Given the description of an element on the screen output the (x, y) to click on. 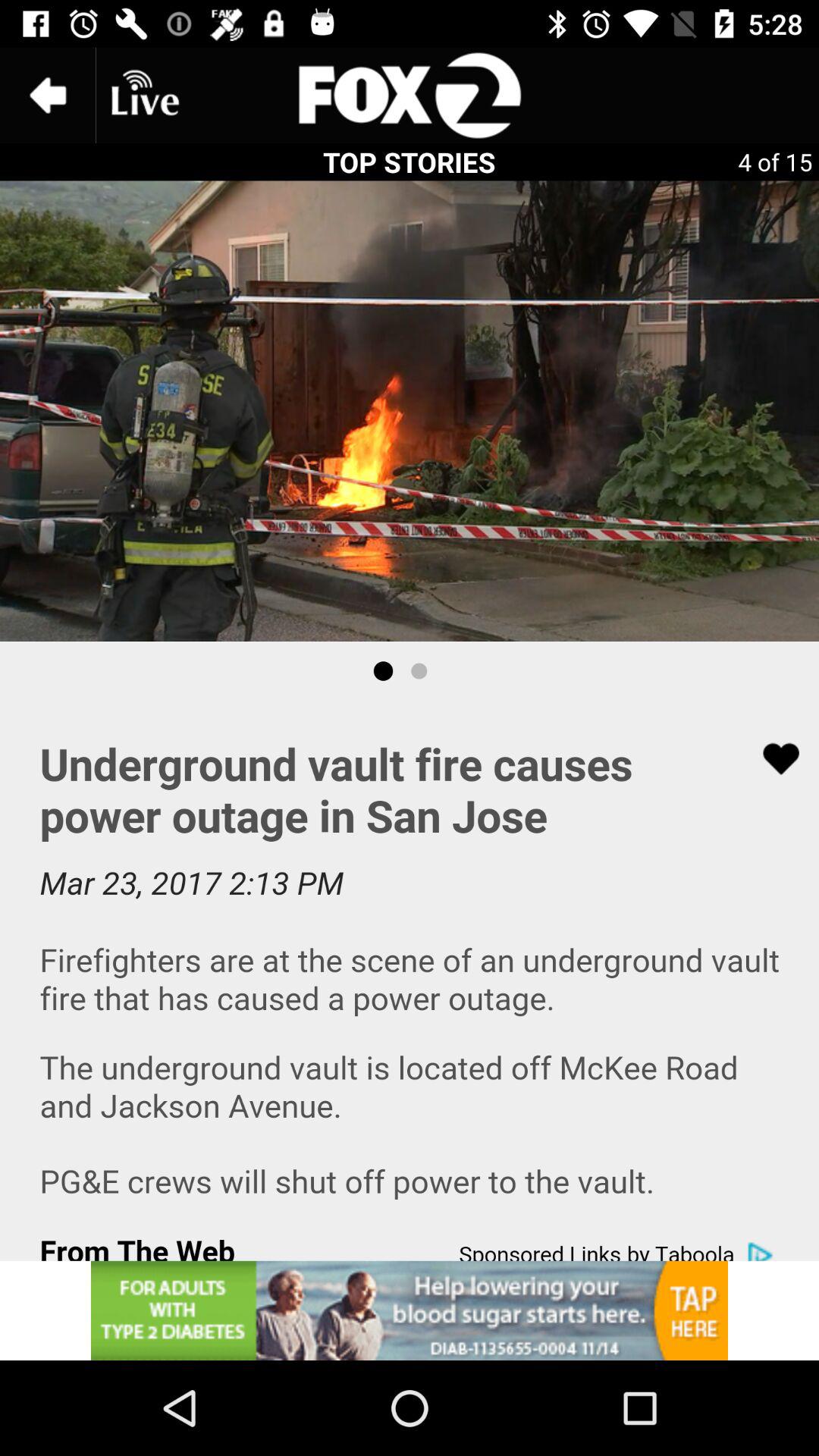
go back (47, 95)
